Given the description of an element on the screen output the (x, y) to click on. 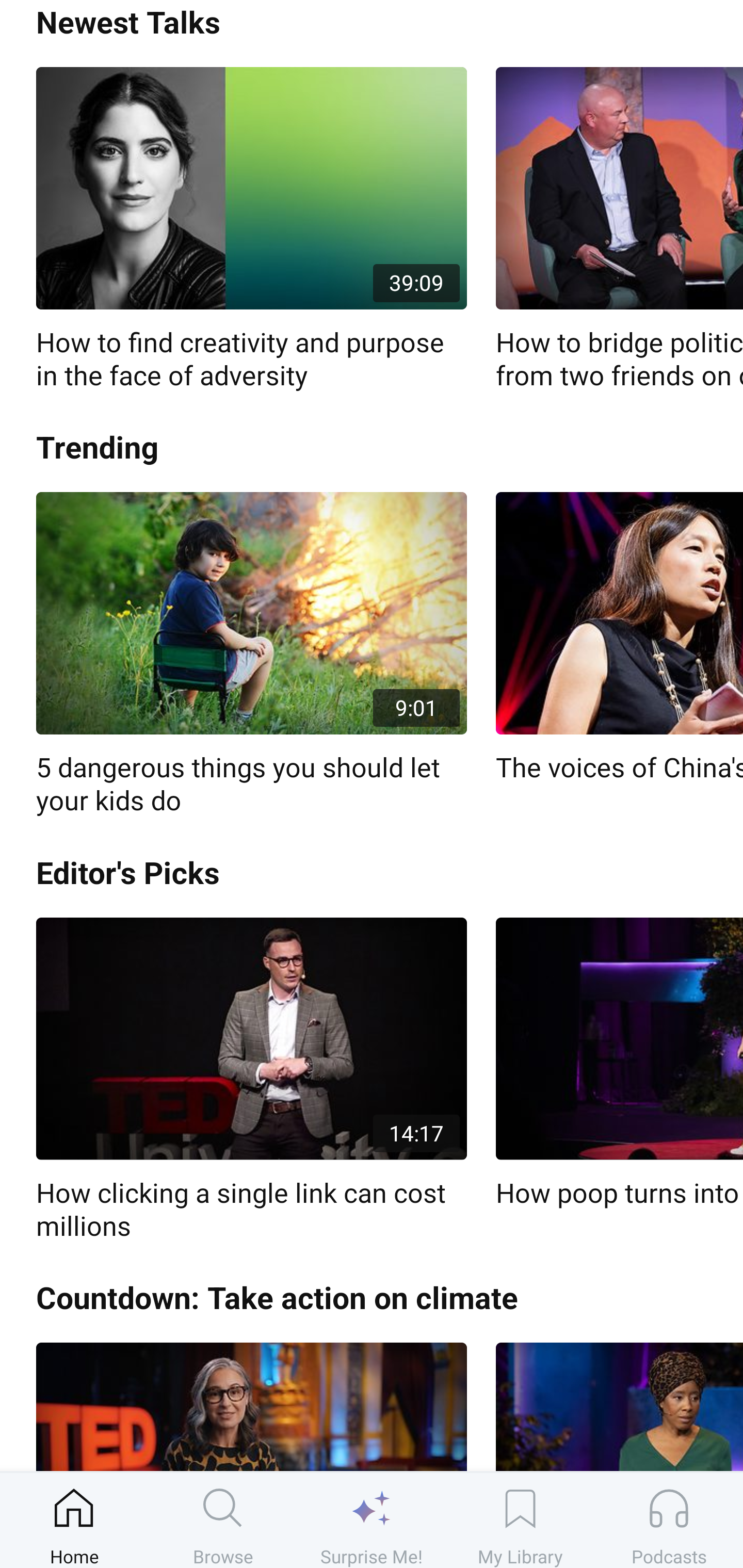
The voices of China's workers (619, 638)
14:17 How clicking a single link can cost millions (251, 1080)
Home (74, 1520)
Browse (222, 1520)
Surprise Me! (371, 1520)
My Library (519, 1520)
Podcasts (668, 1520)
